Given the description of an element on the screen output the (x, y) to click on. 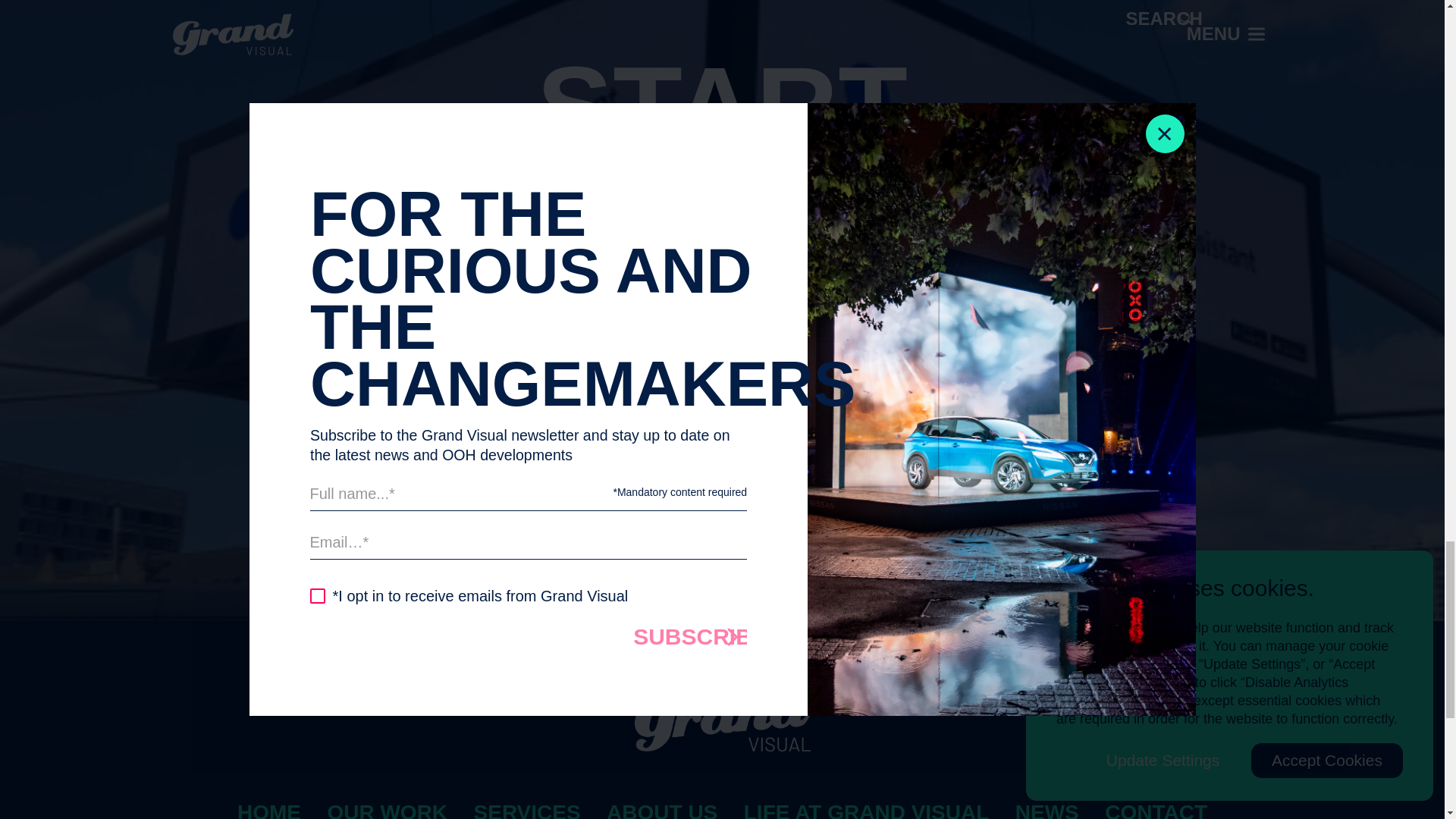
Contact Our Team (721, 450)
LIFE AT GRAND VISUAL (867, 809)
CONTACT OUR TEAM (721, 450)
NEWS (1046, 809)
SERVICES (527, 809)
ABOUT US (662, 809)
CONTACT (1156, 809)
OUR WORK (386, 809)
HOME (269, 809)
